Given the description of an element on the screen output the (x, y) to click on. 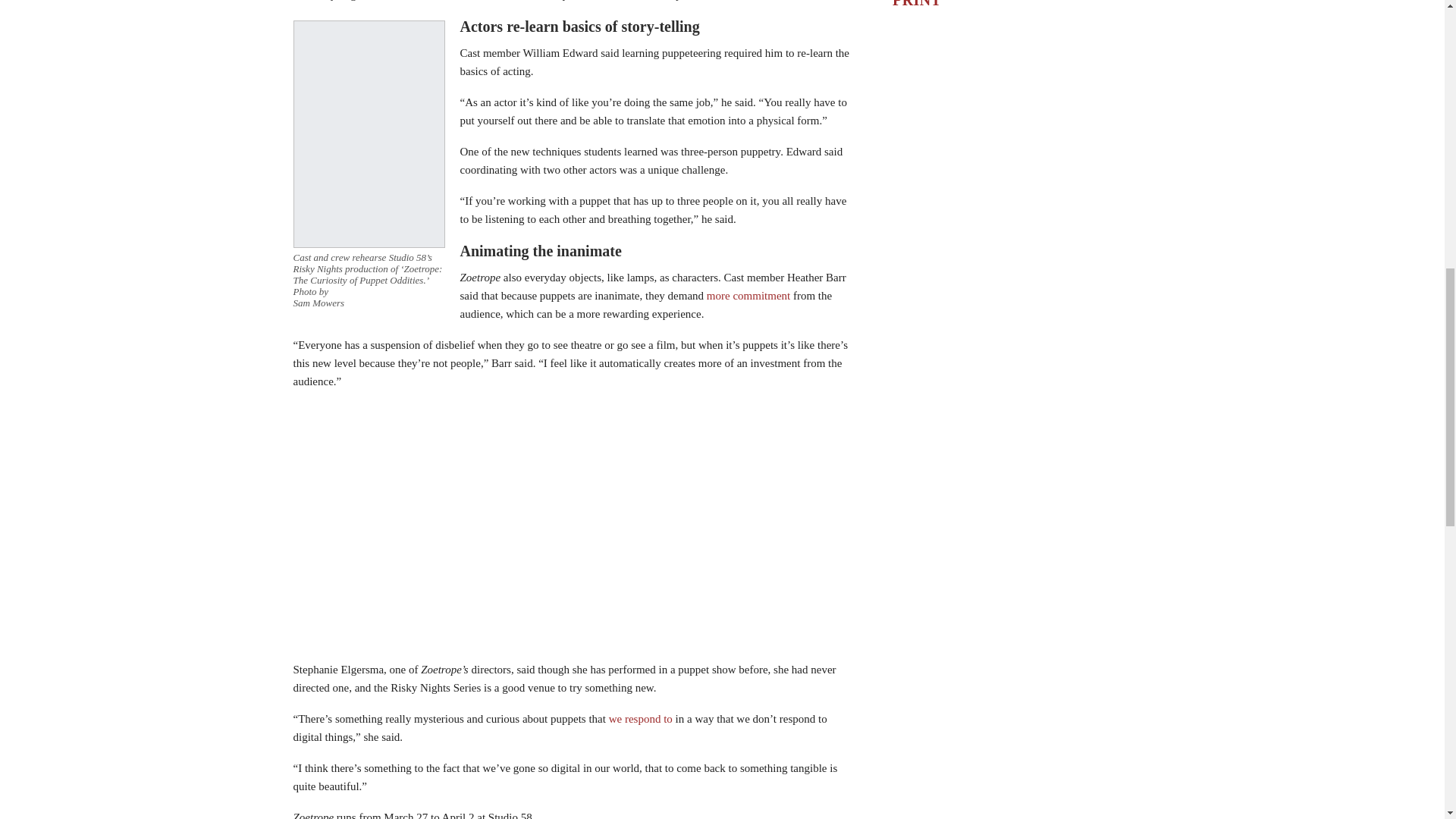
more commitment (748, 295)
we respond to (640, 718)
